Given the description of an element on the screen output the (x, y) to click on. 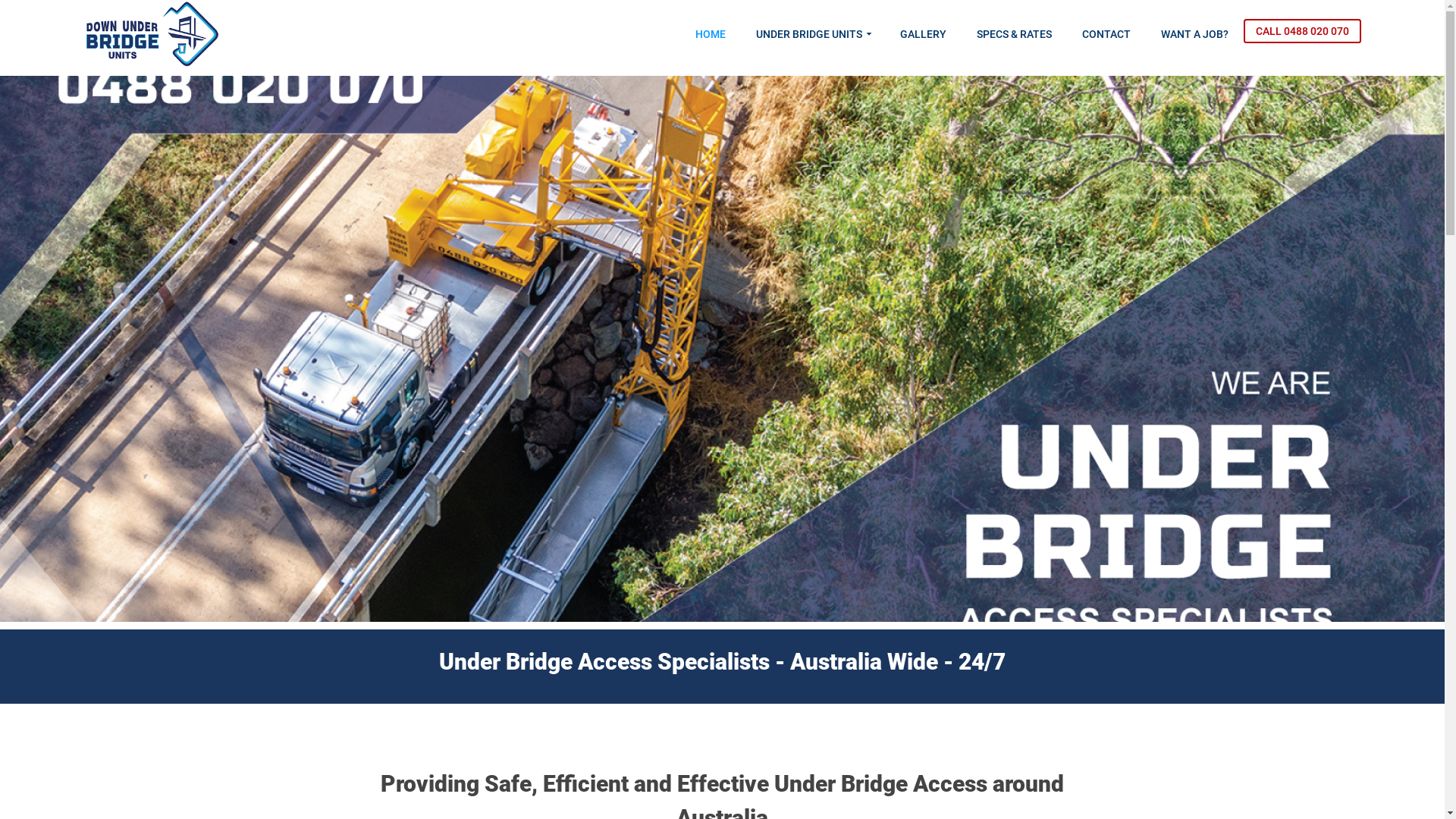
SPECS & RATES Element type: text (1013, 34)
HOME Element type: text (710, 34)
WANT A JOB? Element type: text (1194, 34)
CONTACT Element type: text (1105, 34)
UNDER BRIDGE UNITS Element type: text (812, 34)
CALL 0488 020 070 Element type: text (1302, 30)
GALLERY Element type: text (922, 34)
